Given the description of an element on the screen output the (x, y) to click on. 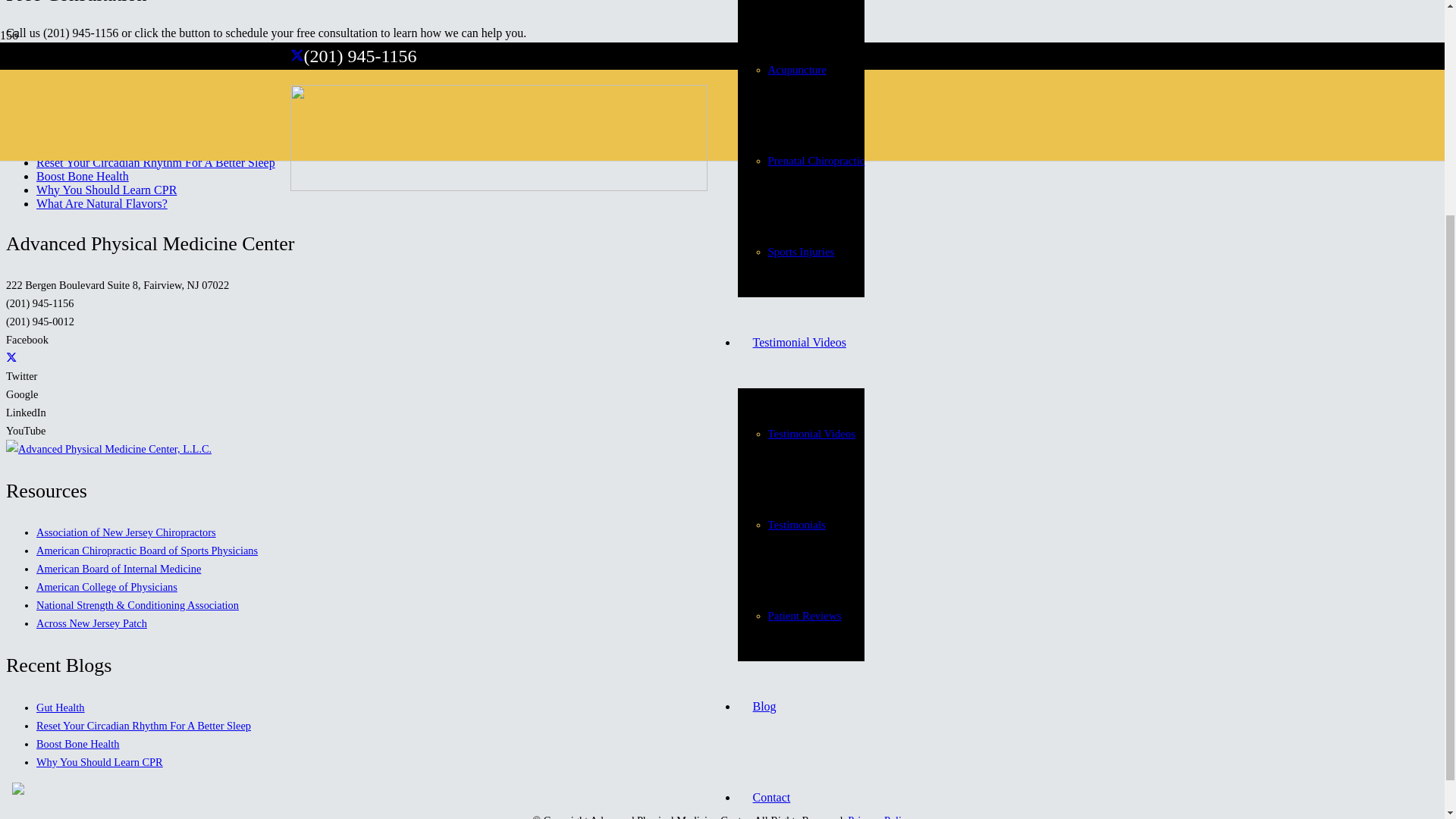
Testimonials (796, 227)
EWAVES FIT (799, 774)
Testimonial Videos (798, 45)
Testimonial Videos (811, 137)
Patient Reviews (804, 318)
Partners (771, 682)
Schedule Consultation (60, 69)
Gut Health (63, 148)
Contact (770, 500)
Blog (763, 409)
